Given the description of an element on the screen output the (x, y) to click on. 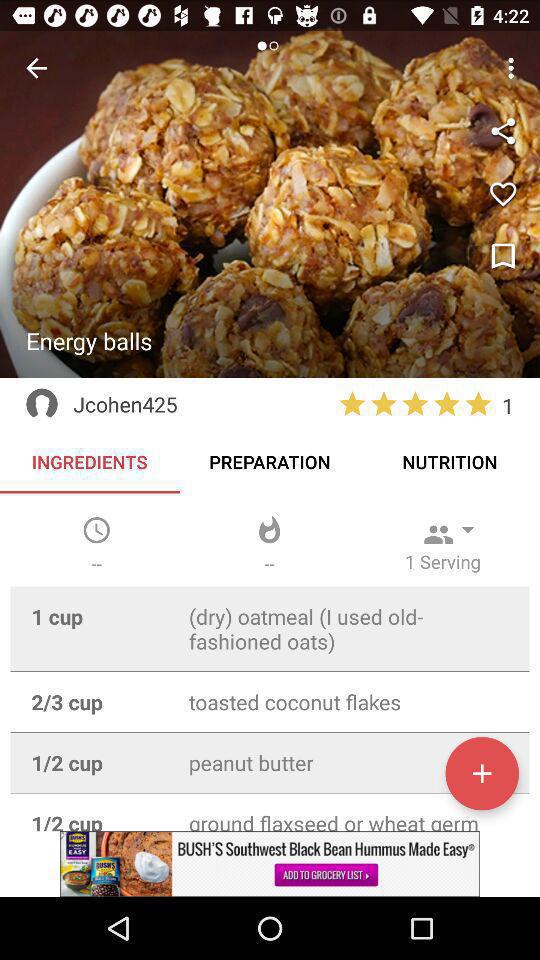
like (503, 194)
